Given the description of an element on the screen output the (x, y) to click on. 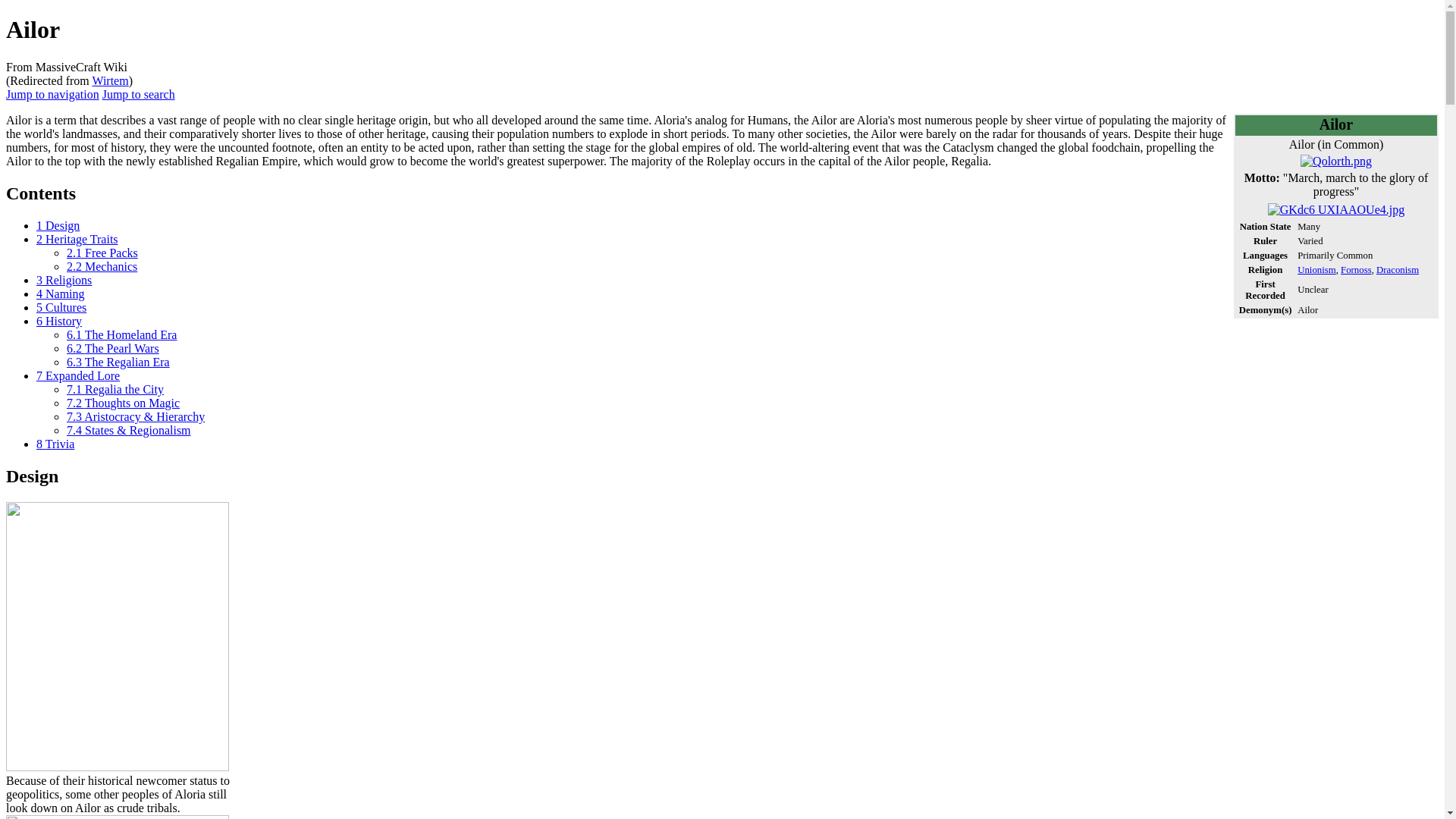
6 History (58, 320)
7 Expanded Lore (77, 375)
Fornoss (1355, 269)
8 Trivia (55, 443)
6.3 The Regalian Era (118, 361)
5 Cultures (60, 307)
3 Religions (63, 279)
7.2 Thoughts on Magic (122, 402)
Unionism (1316, 269)
Jump to navigation (52, 93)
Jump to search (137, 93)
Draconism (1396, 269)
4 Naming (60, 293)
Unionism (1316, 269)
2.2 Mechanics (101, 266)
